Given the description of an element on the screen output the (x, y) to click on. 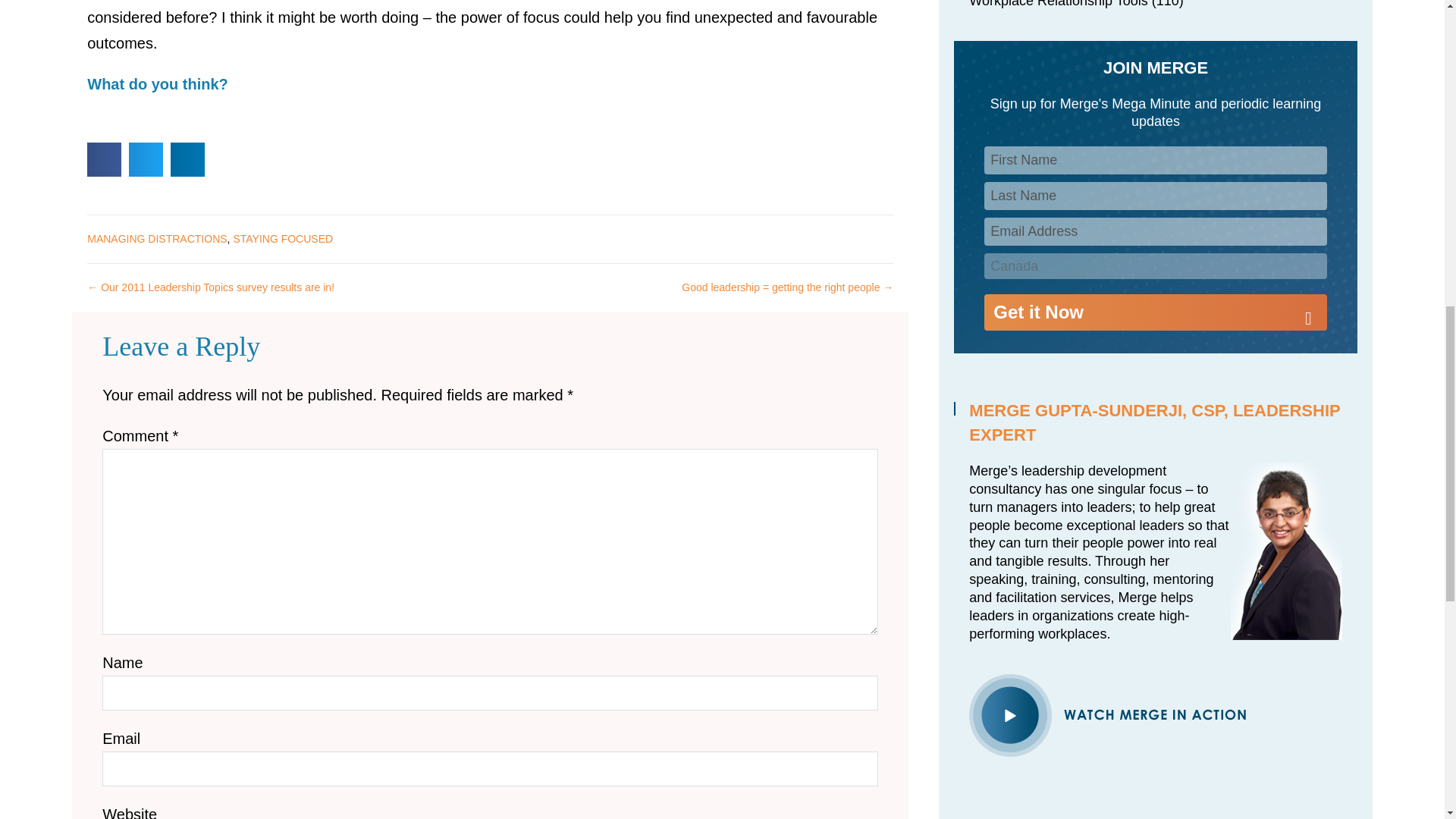
Email Address (1155, 231)
Last Name (1155, 195)
Get it Now (1155, 312)
First Name (1155, 160)
